Given the description of an element on the screen output the (x, y) to click on. 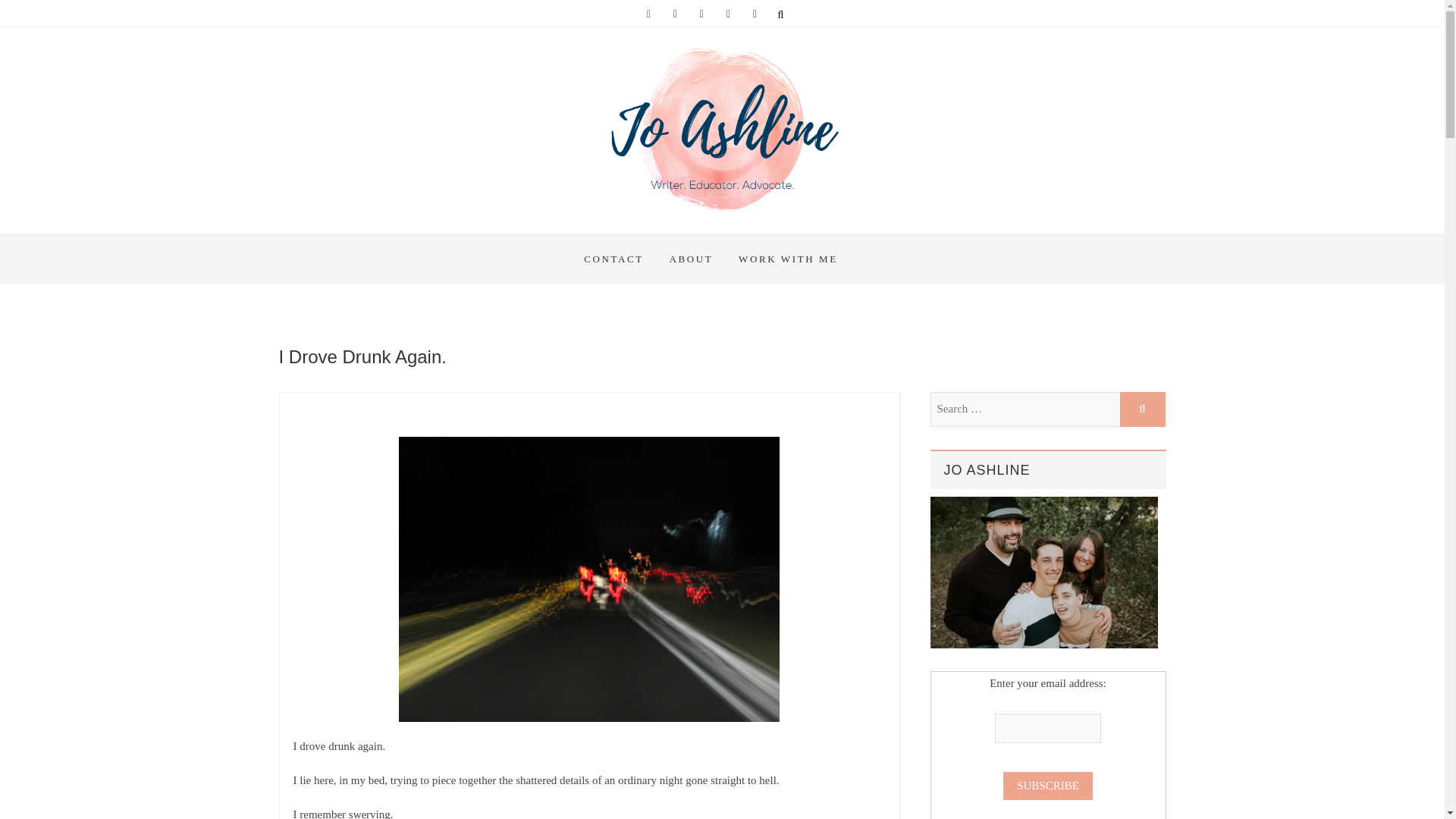
CONTACT (613, 258)
drunk driving (588, 579)
ABOUT (691, 258)
WORK WITH ME (787, 258)
Subscribe (1048, 786)
